Given the description of an element on the screen output the (x, y) to click on. 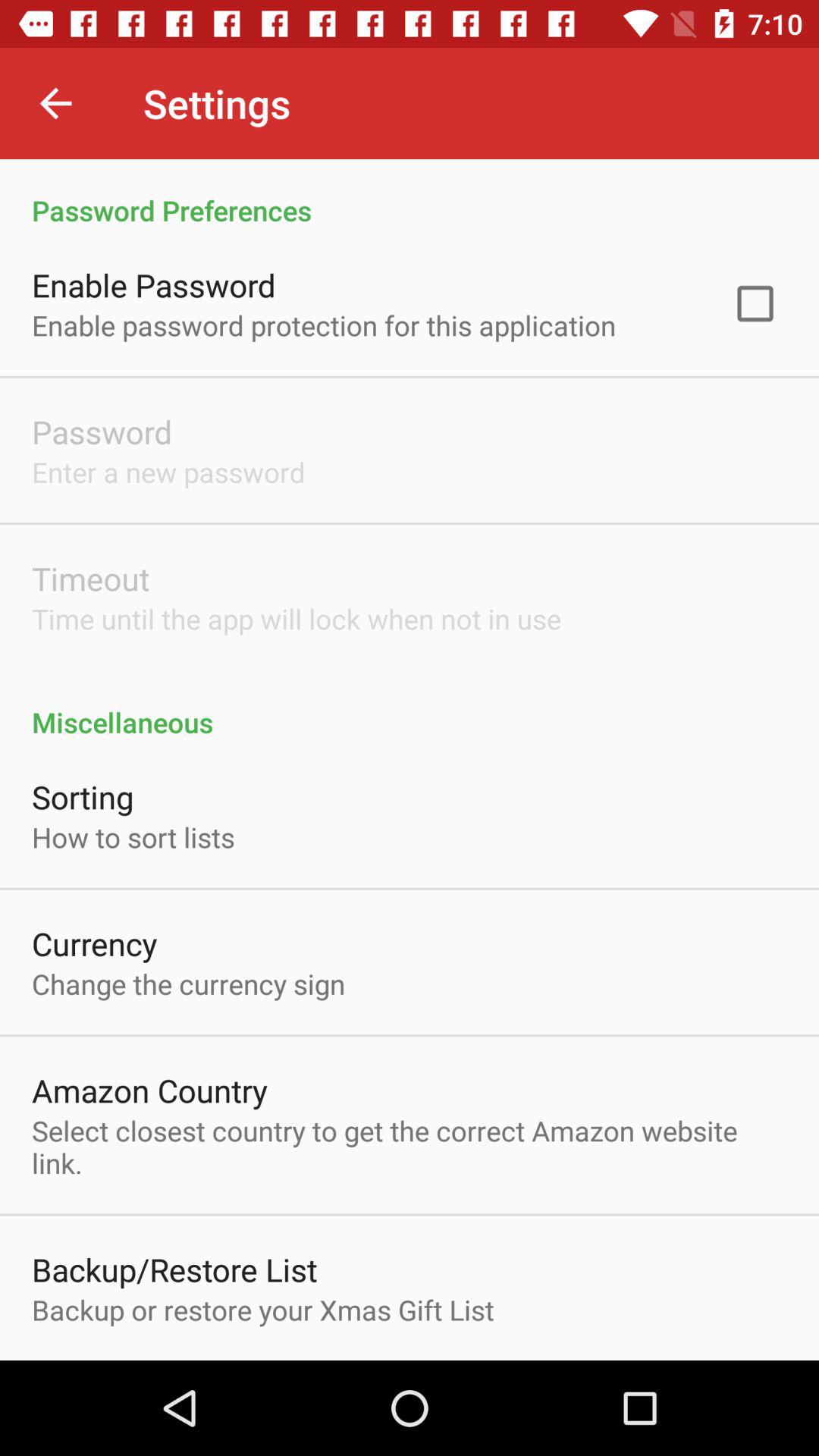
press icon above password preferences icon (55, 103)
